Given the description of an element on the screen output the (x, y) to click on. 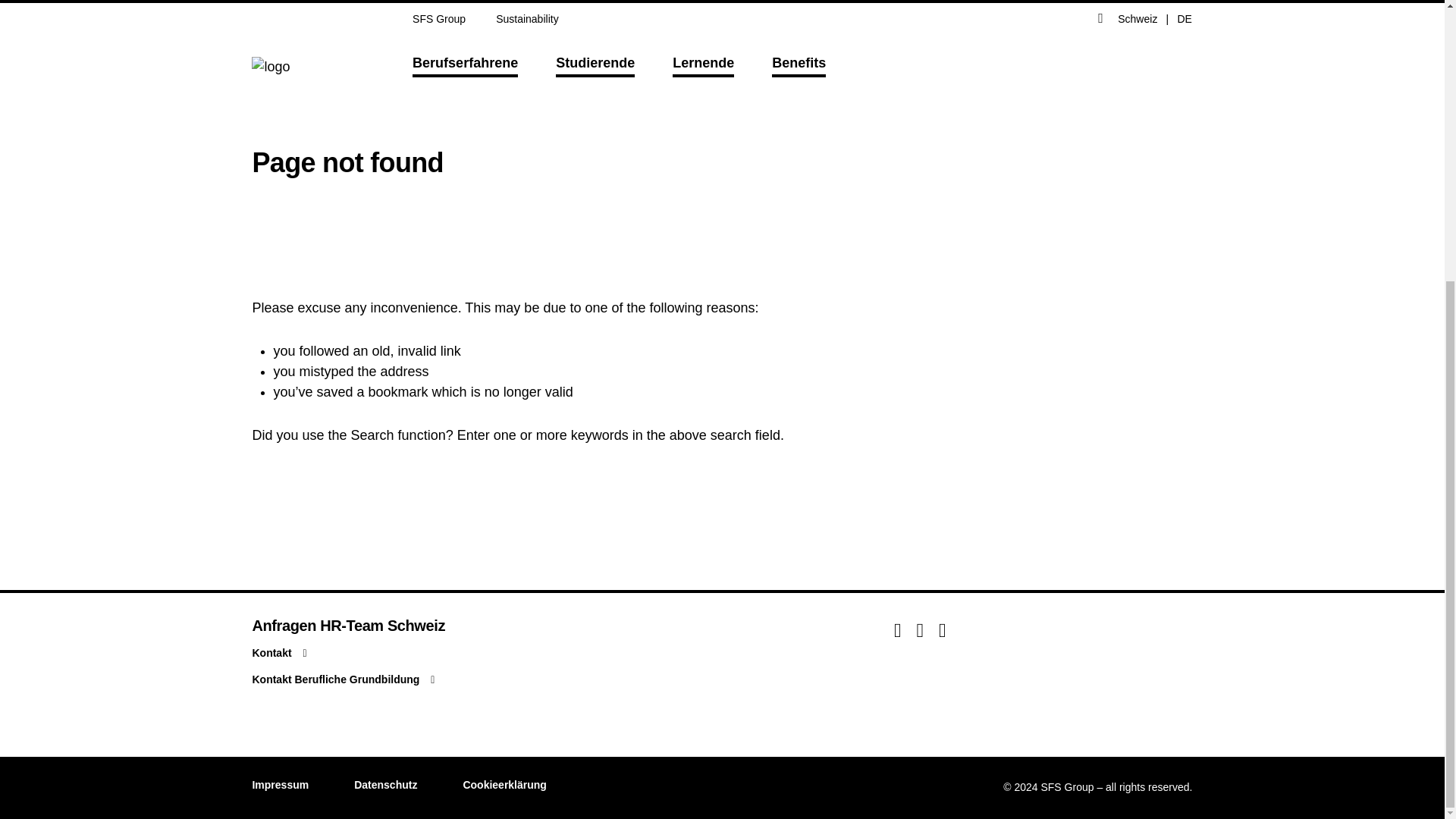
Kontakt Berufliche Grundbildung (359, 679)
Impressum (279, 784)
Kontakt (359, 652)
Datenschutz (384, 784)
